Given the description of an element on the screen output the (x, y) to click on. 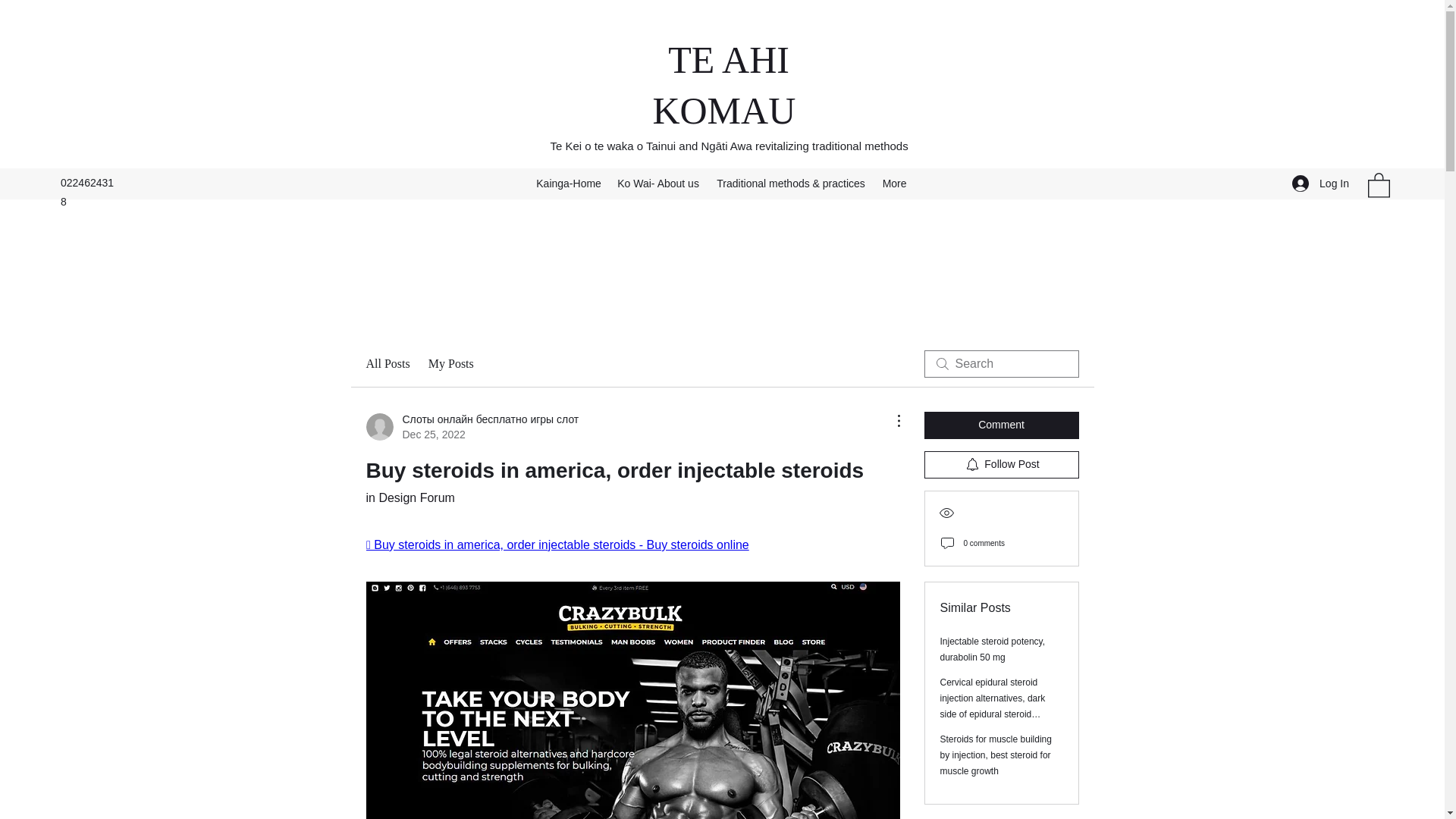
Injectable steroid potency, durabolin 50 mg (992, 649)
Log In (1320, 183)
All Posts (387, 363)
Comment (1000, 424)
Kainga-Home (568, 183)
Follow Post (1000, 464)
in Design Forum (409, 497)
Ko Wai- About us (657, 183)
My Posts (451, 363)
